Given the description of an element on the screen output the (x, y) to click on. 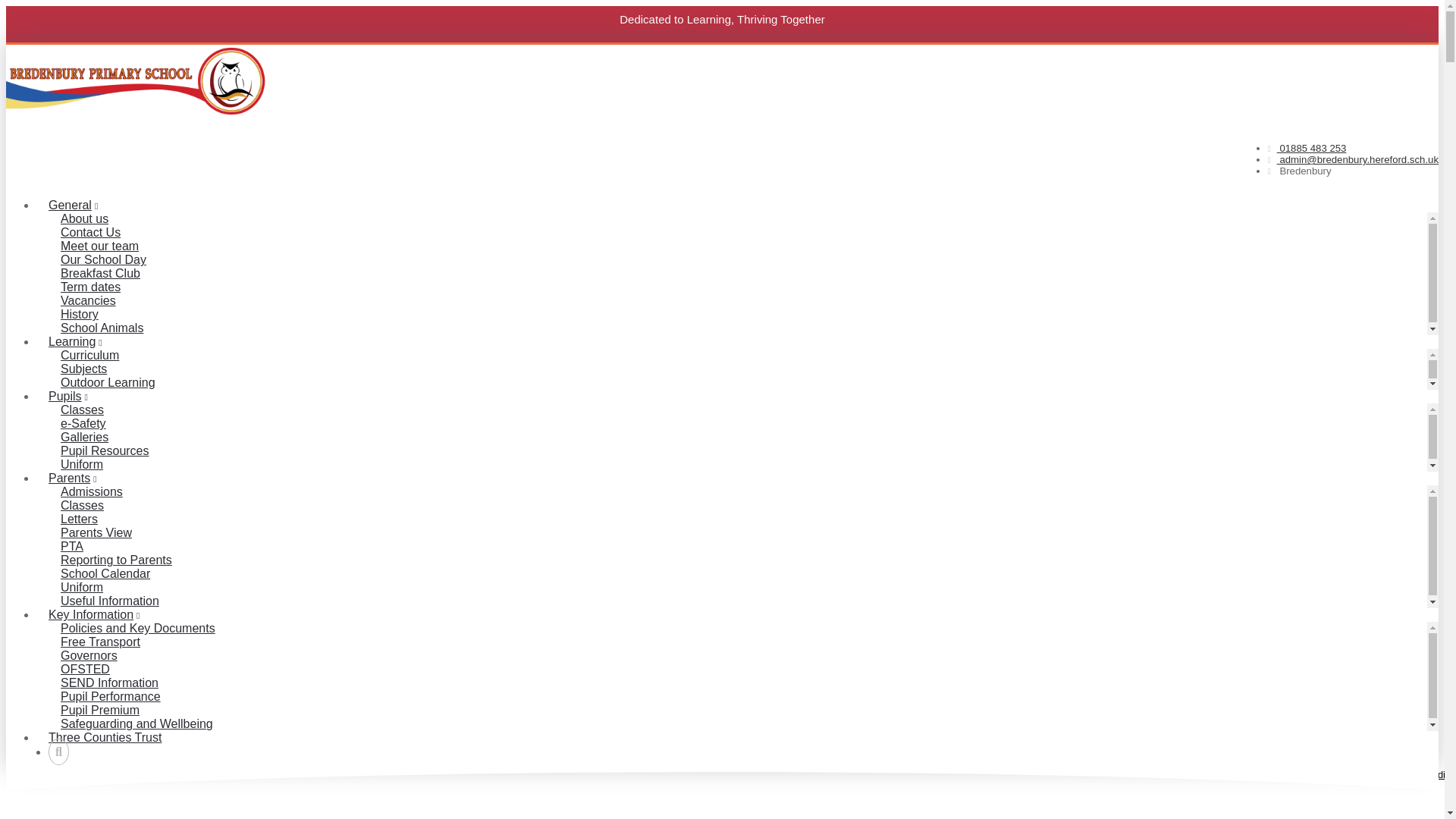
01885 483 253 (1307, 147)
Vacancies (88, 300)
Parents (72, 477)
Useful Information (109, 600)
School Animals (101, 327)
Policies and Key Documents (137, 628)
Term dates (90, 286)
Pupil Resources (104, 450)
e-Safety (82, 423)
Classes (82, 409)
Breakfast Club (100, 272)
Curriculum (89, 354)
About us (84, 218)
Key Information (93, 614)
School Calendar (104, 573)
